Given the description of an element on the screen output the (x, y) to click on. 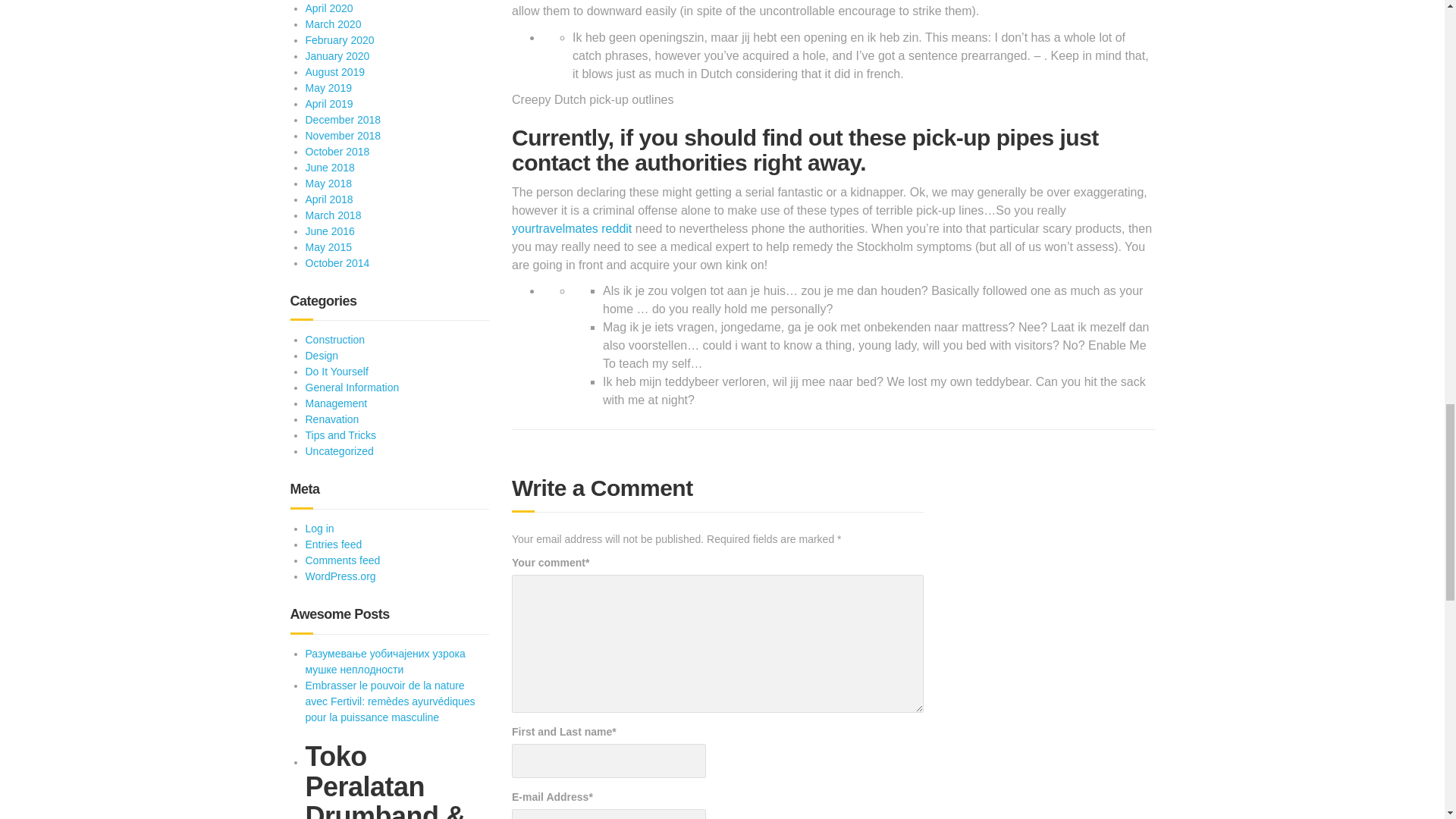
yourtravelmates reddit (571, 228)
